Given the description of an element on the screen output the (x, y) to click on. 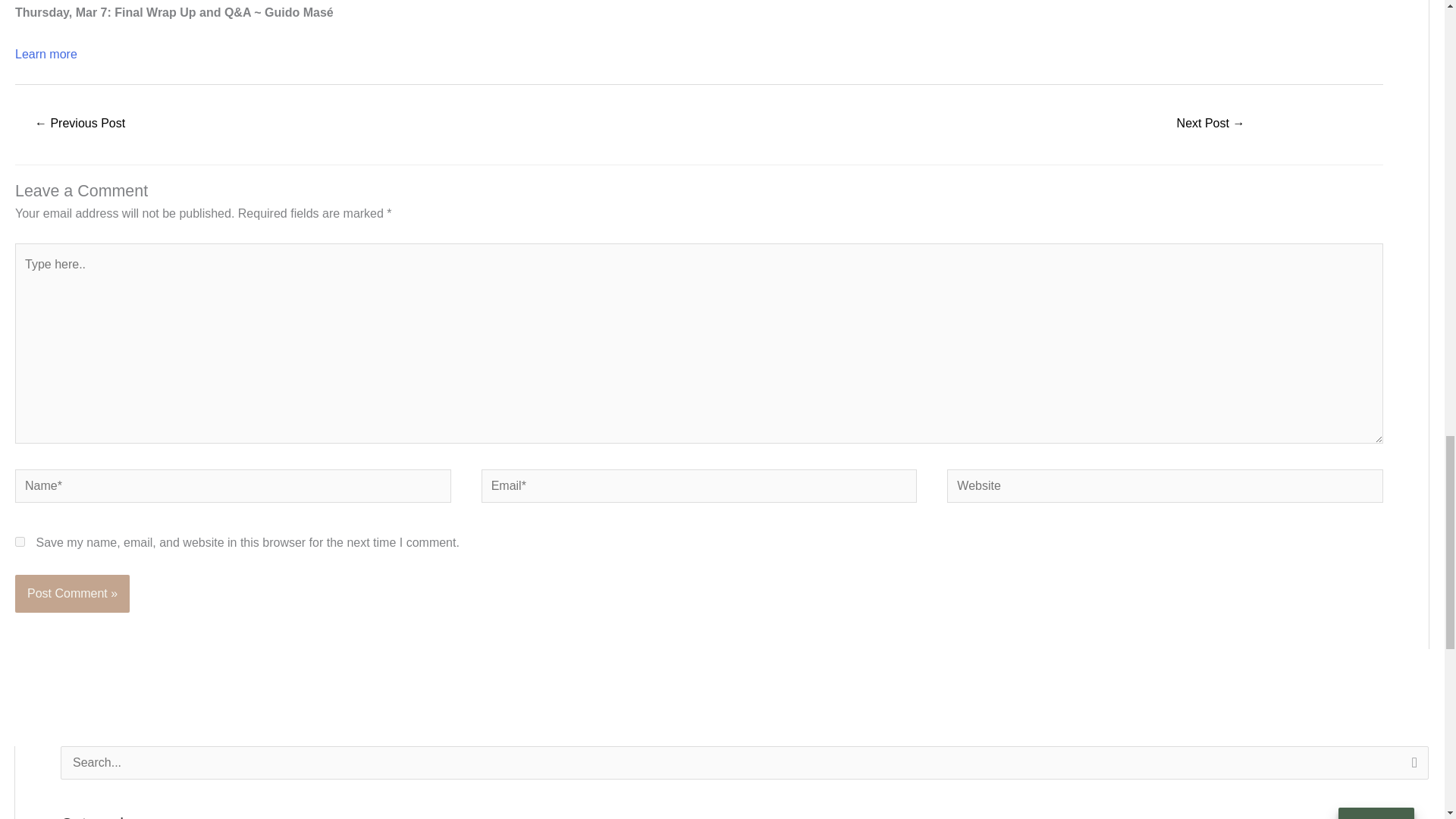
Learn more (45, 53)
11 Secrets for Graceful Longevity by Tammi Sweet (79, 124)
yes (19, 542)
